Given the description of an element on the screen output the (x, y) to click on. 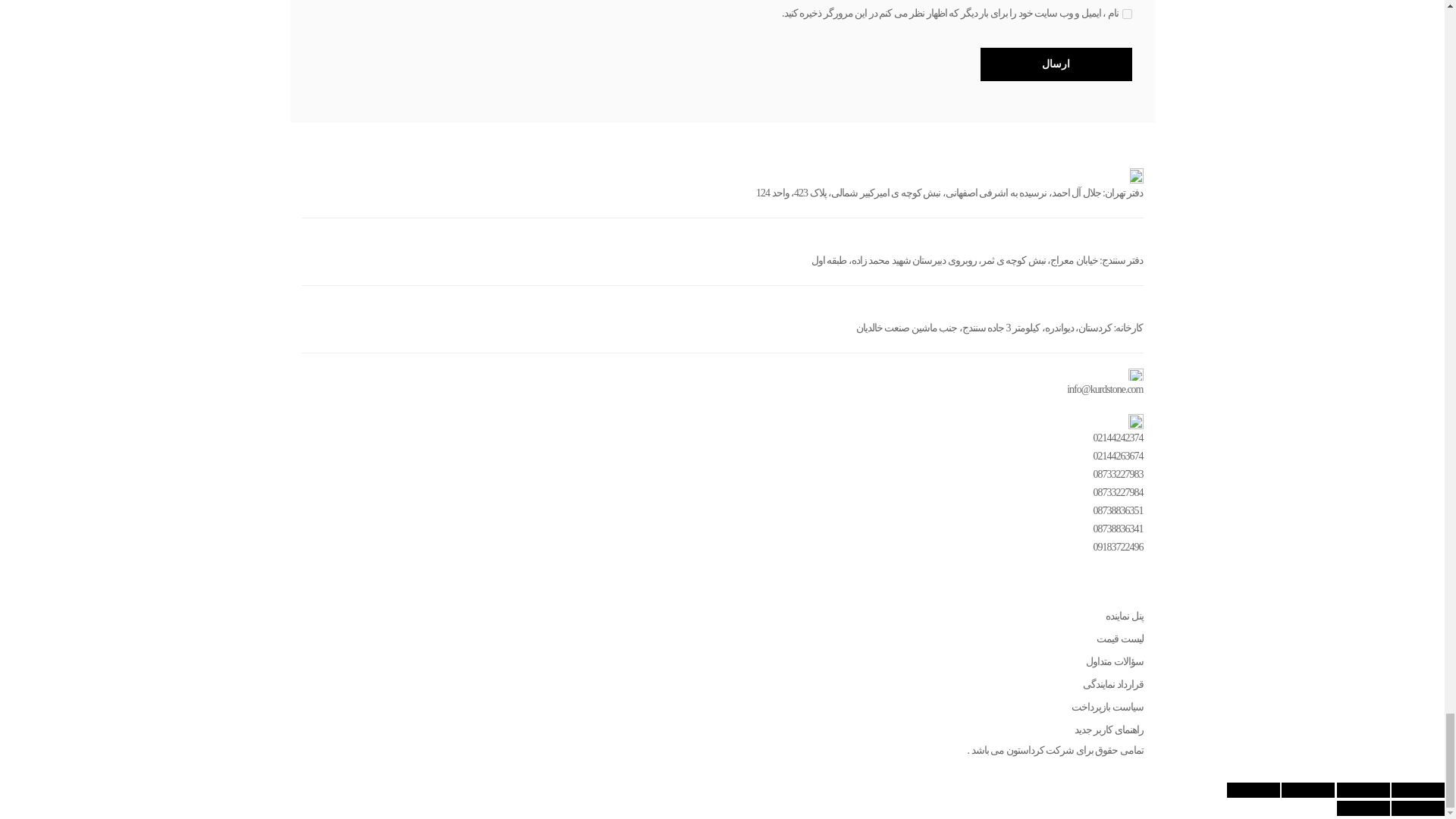
yes (1127, 13)
